Given the description of an element on the screen output the (x, y) to click on. 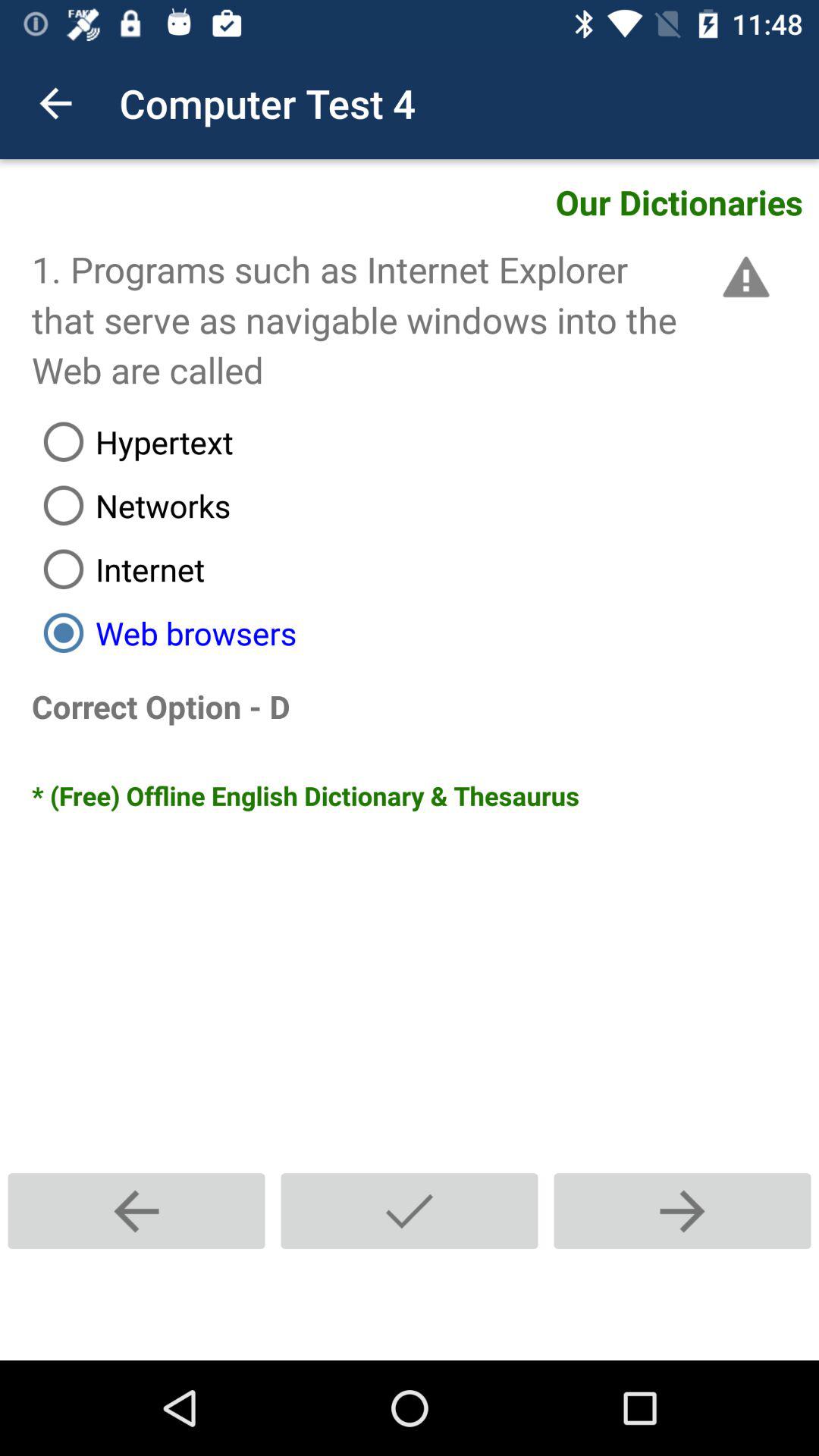
launch the item to the right of 1 programs such (743, 276)
